Given the description of an element on the screen output the (x, y) to click on. 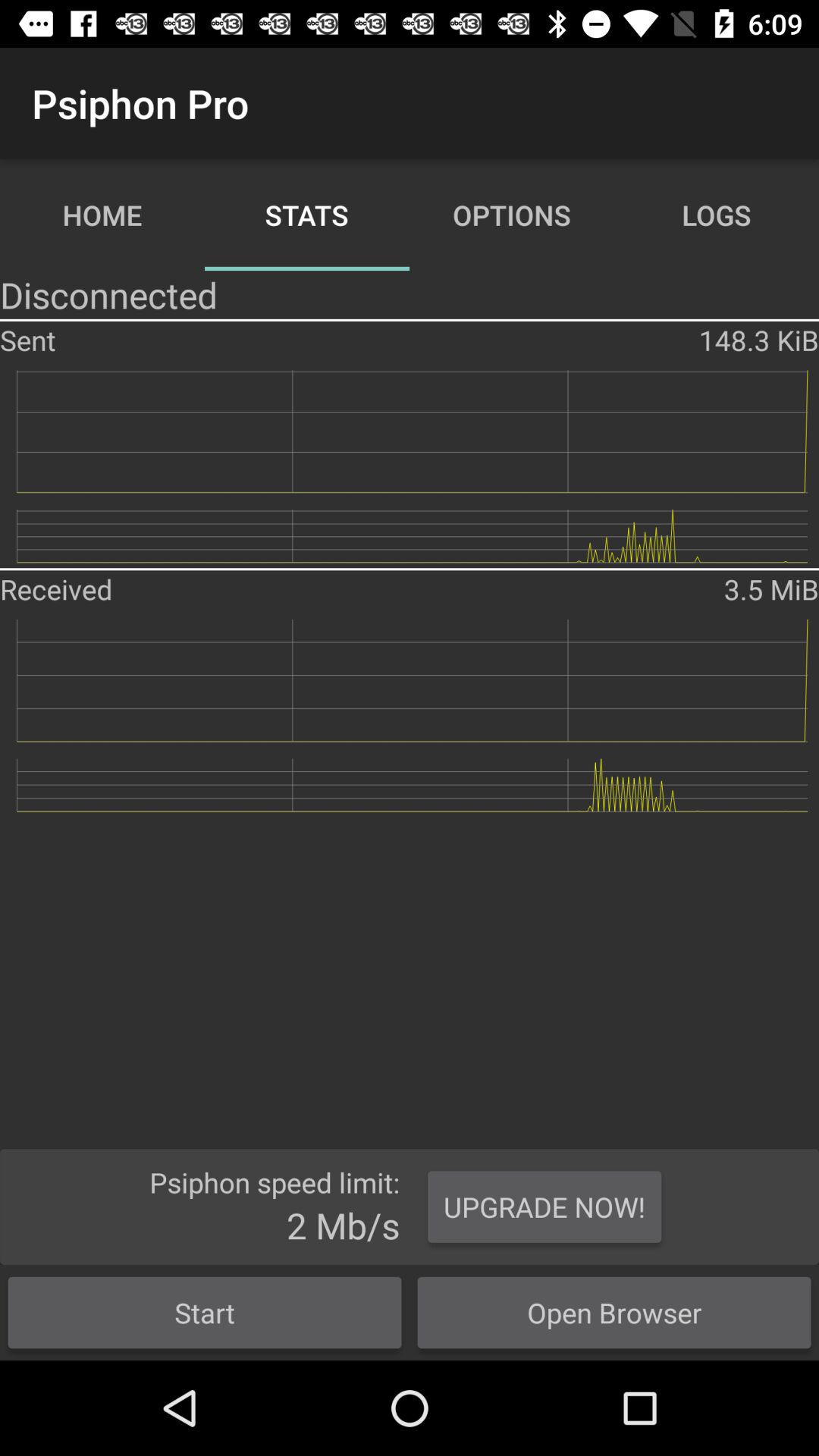
press the button to the right of the start button (614, 1312)
